Given the description of an element on the screen output the (x, y) to click on. 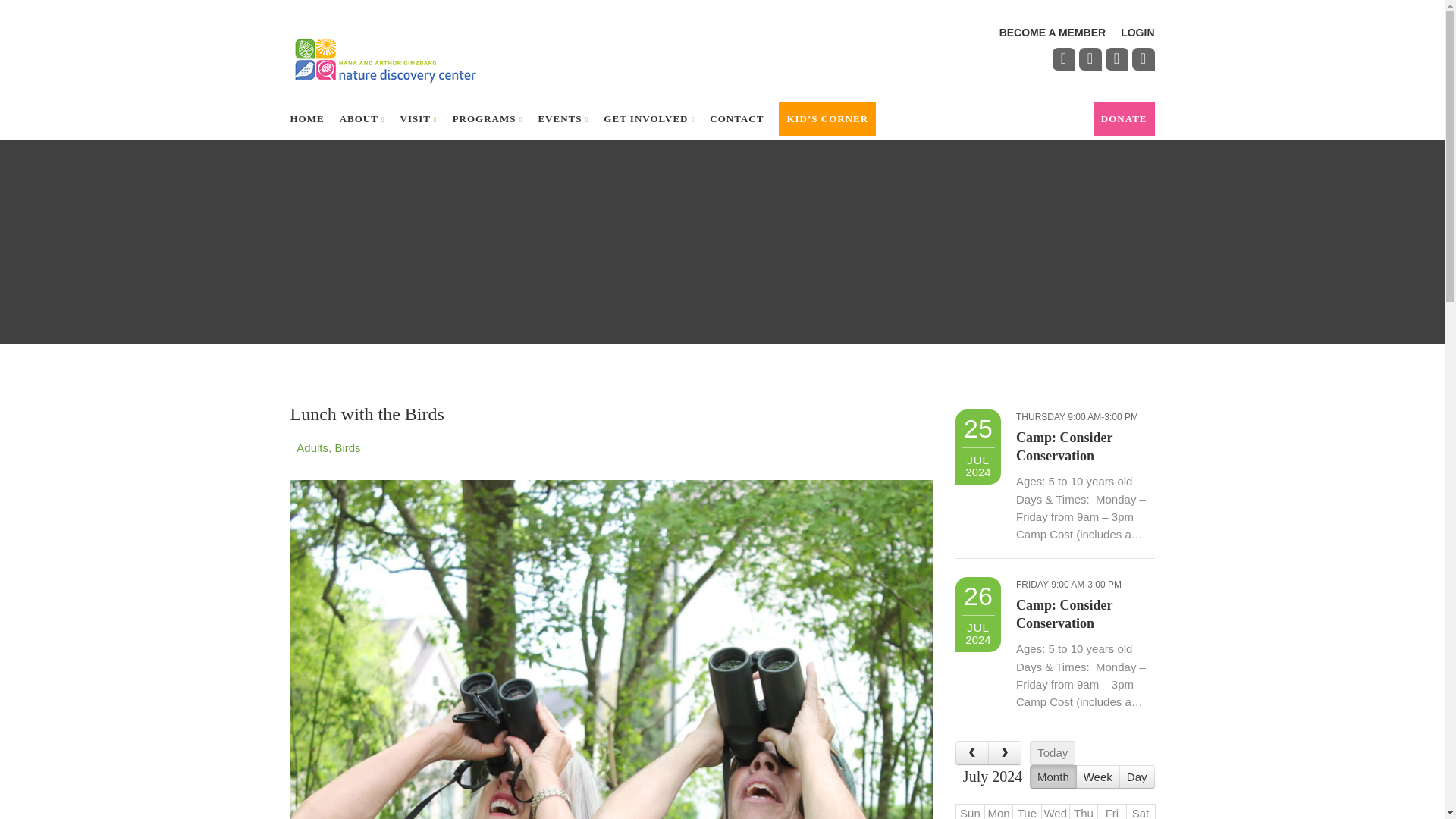
BECOME A MEMBER (1052, 32)
PROGRAMS (487, 118)
VISIT (419, 118)
ABOUT (362, 118)
LOGIN (1137, 32)
HOME (306, 118)
